Given the description of an element on the screen output the (x, y) to click on. 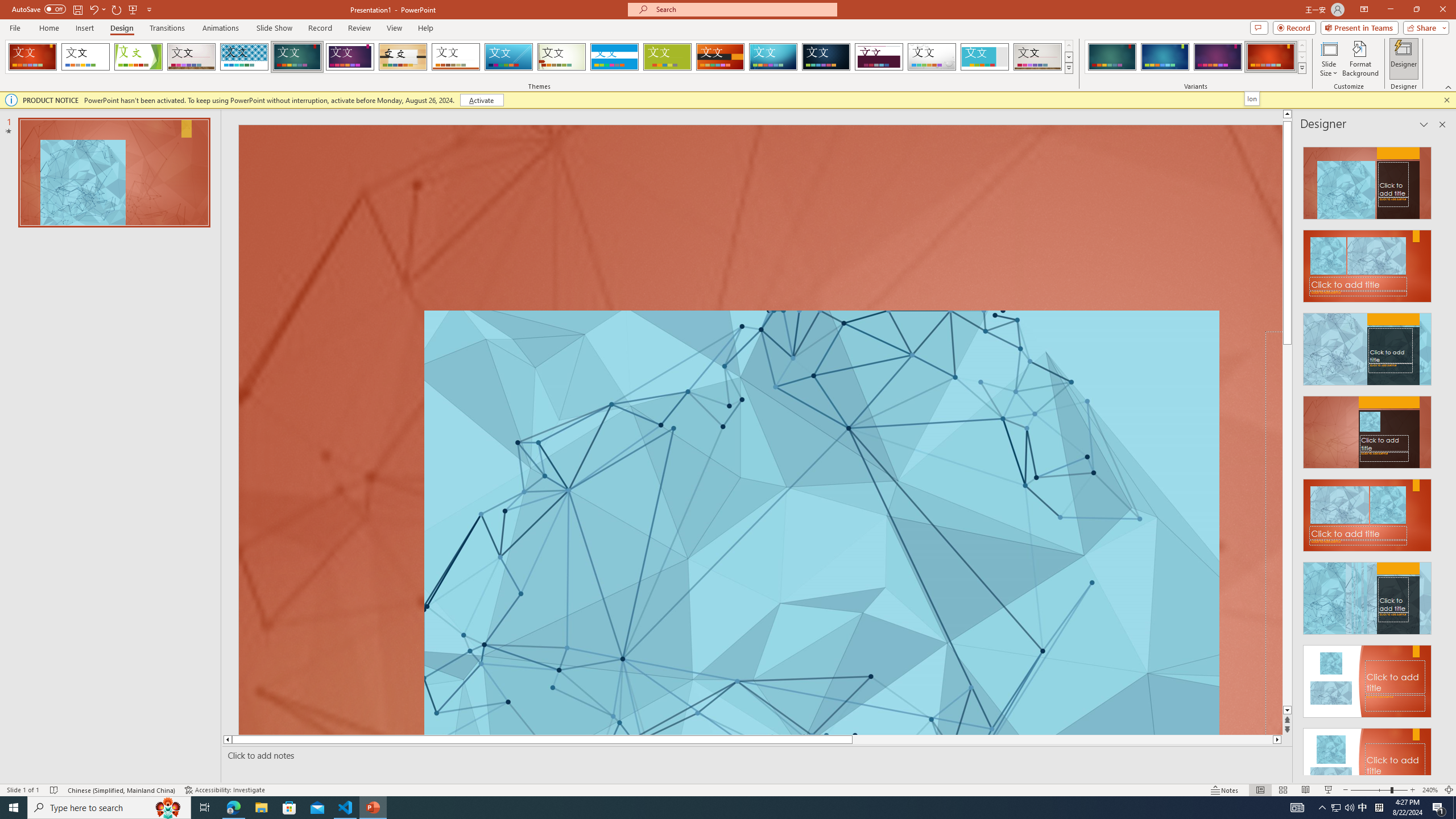
FadeVTI (32, 56)
Ion (1251, 98)
